Given the description of an element on the screen output the (x, y) to click on. 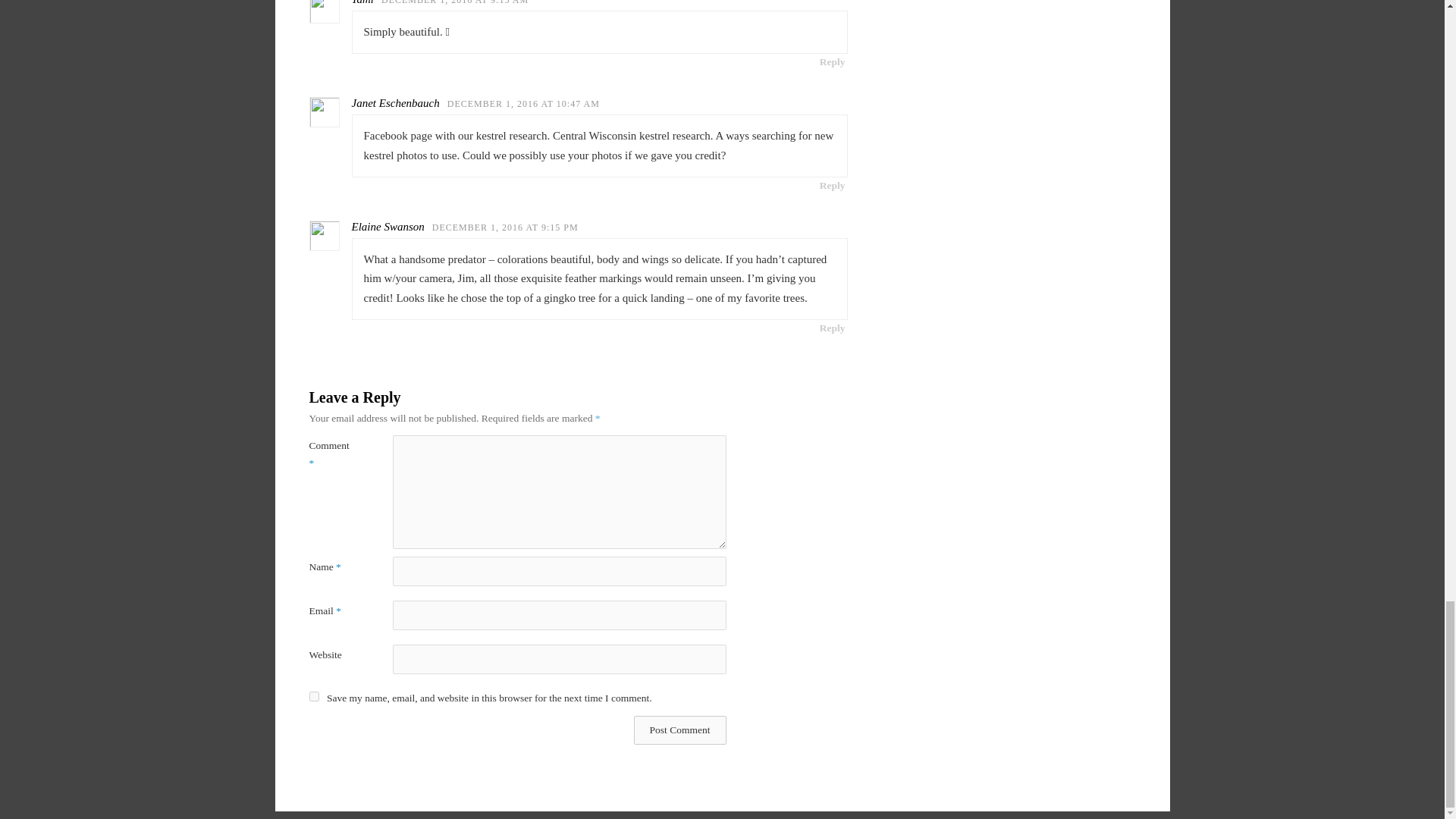
DECEMBER 1, 2016 AT 10:47 AM (522, 103)
DECEMBER 1, 2016 AT 9:15 PM (505, 226)
yes (313, 696)
Post Comment (679, 729)
Reply (831, 61)
DECEMBER 1, 2016 AT 9:15 AM (454, 2)
Reply (831, 184)
Reply (831, 327)
Post Comment (679, 729)
